Given the description of an element on the screen output the (x, y) to click on. 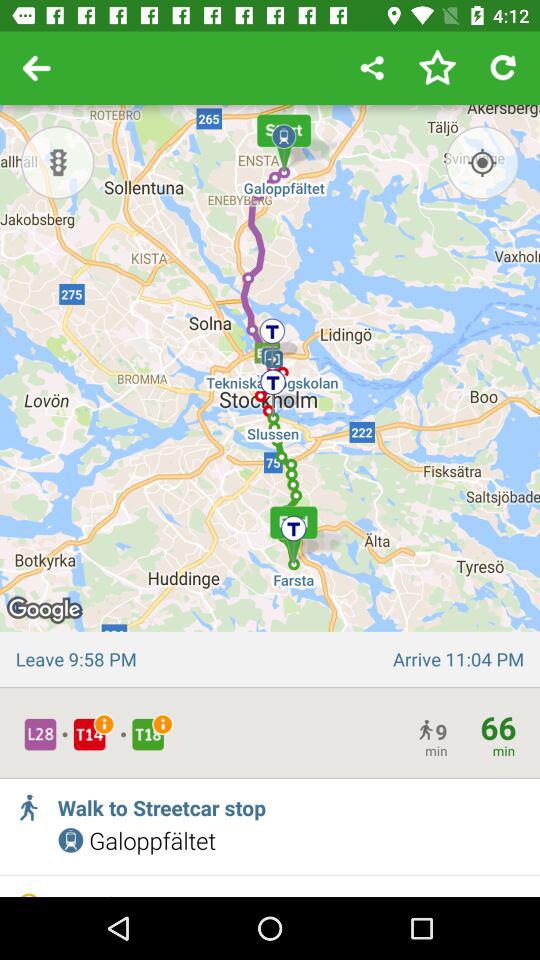
save this route (437, 68)
